Given the description of an element on the screen output the (x, y) to click on. 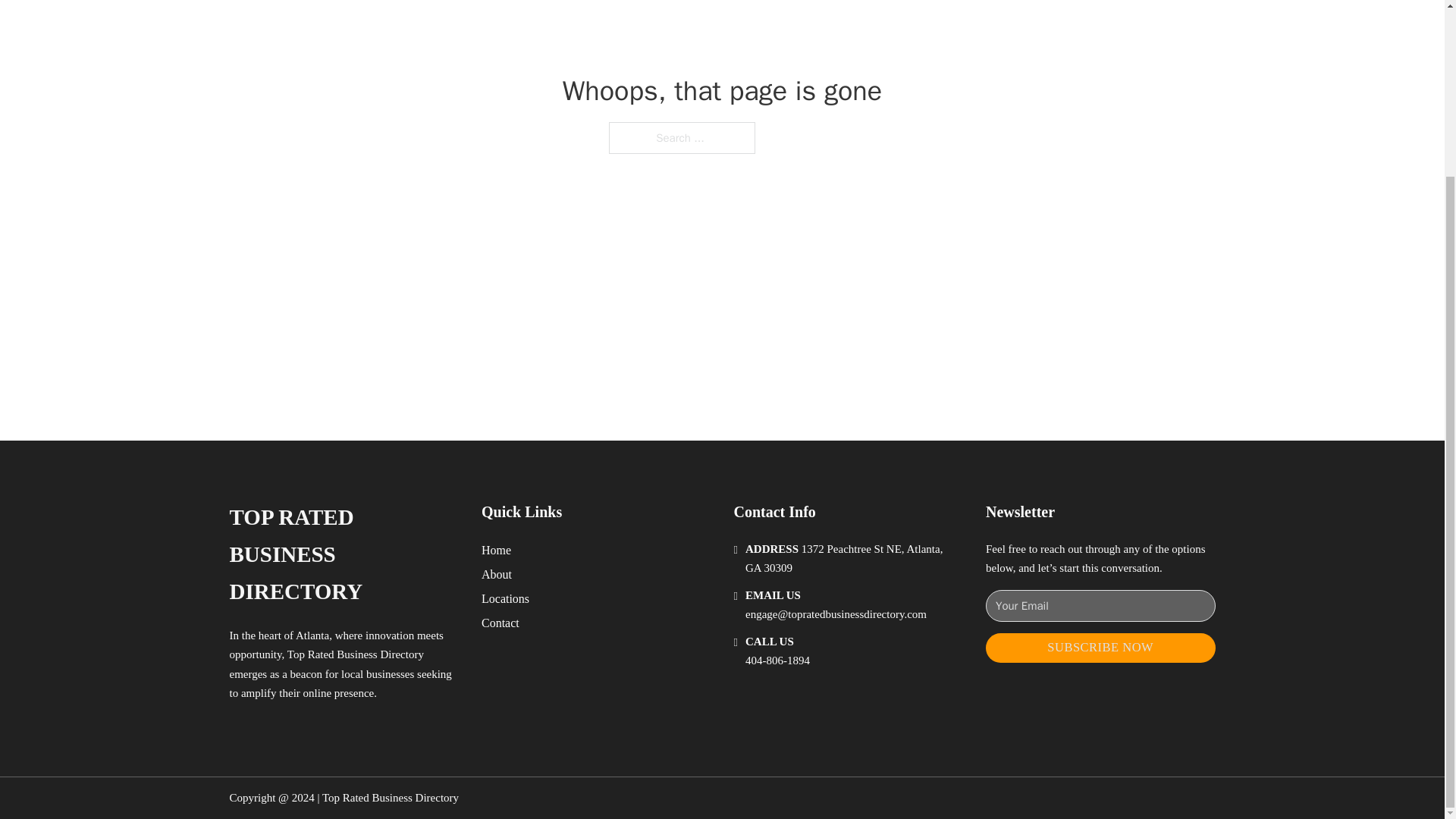
404-806-1894 (777, 660)
Locations (505, 598)
TOP RATED BUSINESS DIRECTORY (343, 554)
SUBSCRIBE NOW (1100, 647)
Home (496, 549)
About (496, 574)
Contact (500, 622)
